Given the description of an element on the screen output the (x, y) to click on. 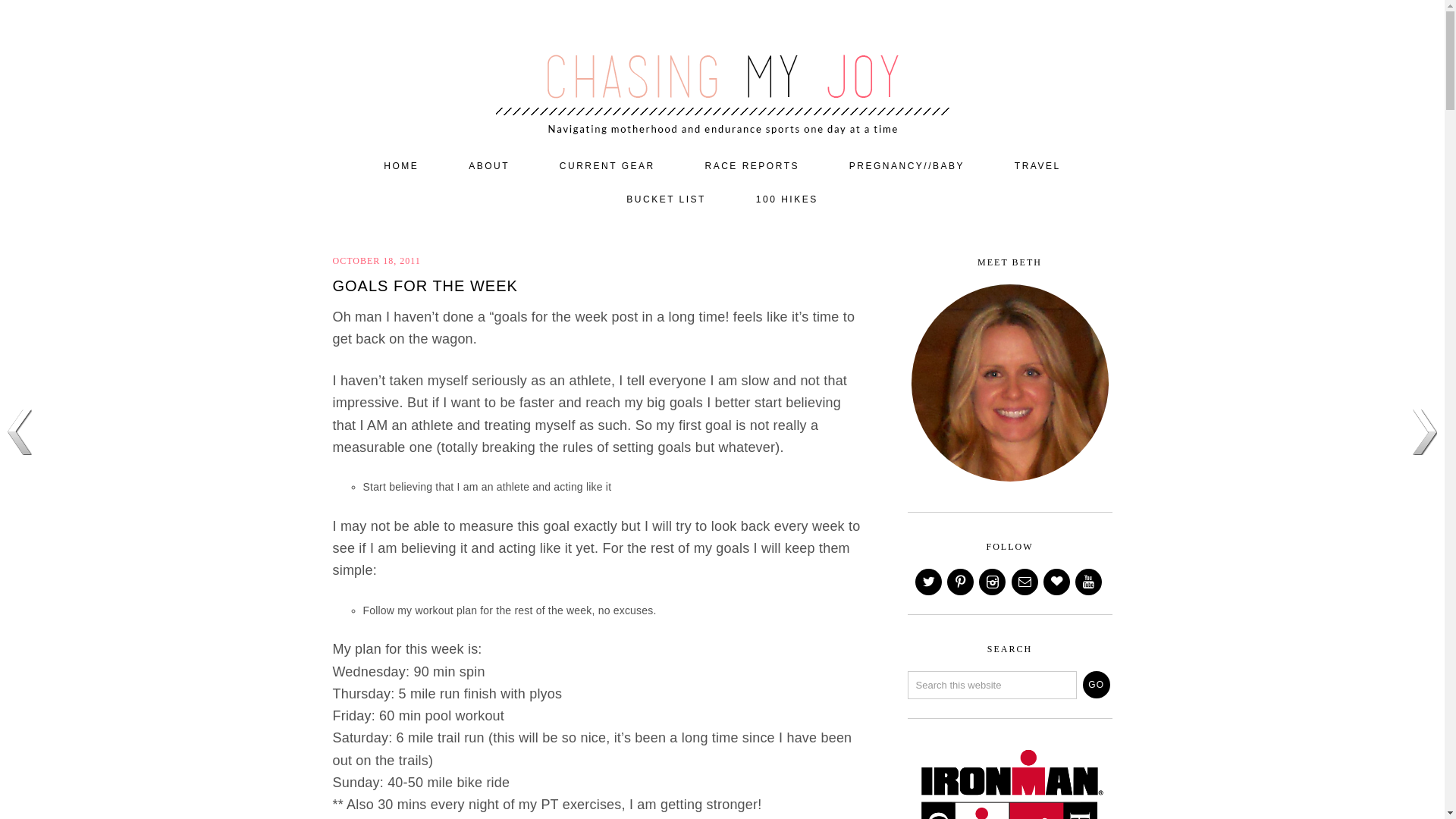
CHASING MY JOY (721, 70)
Pinterest (961, 582)
CURRENT GEAR (607, 166)
TRAVEL (1037, 166)
ABOUT (488, 166)
Email Me (1026, 582)
HOME (401, 166)
Instagram (992, 582)
GO (1096, 684)
BUCKET LIST (666, 200)
GO (1096, 684)
100 HIKES (787, 200)
Youtube (1089, 582)
Twitter (929, 582)
Bloglovin (1057, 582)
